Given the description of an element on the screen output the (x, y) to click on. 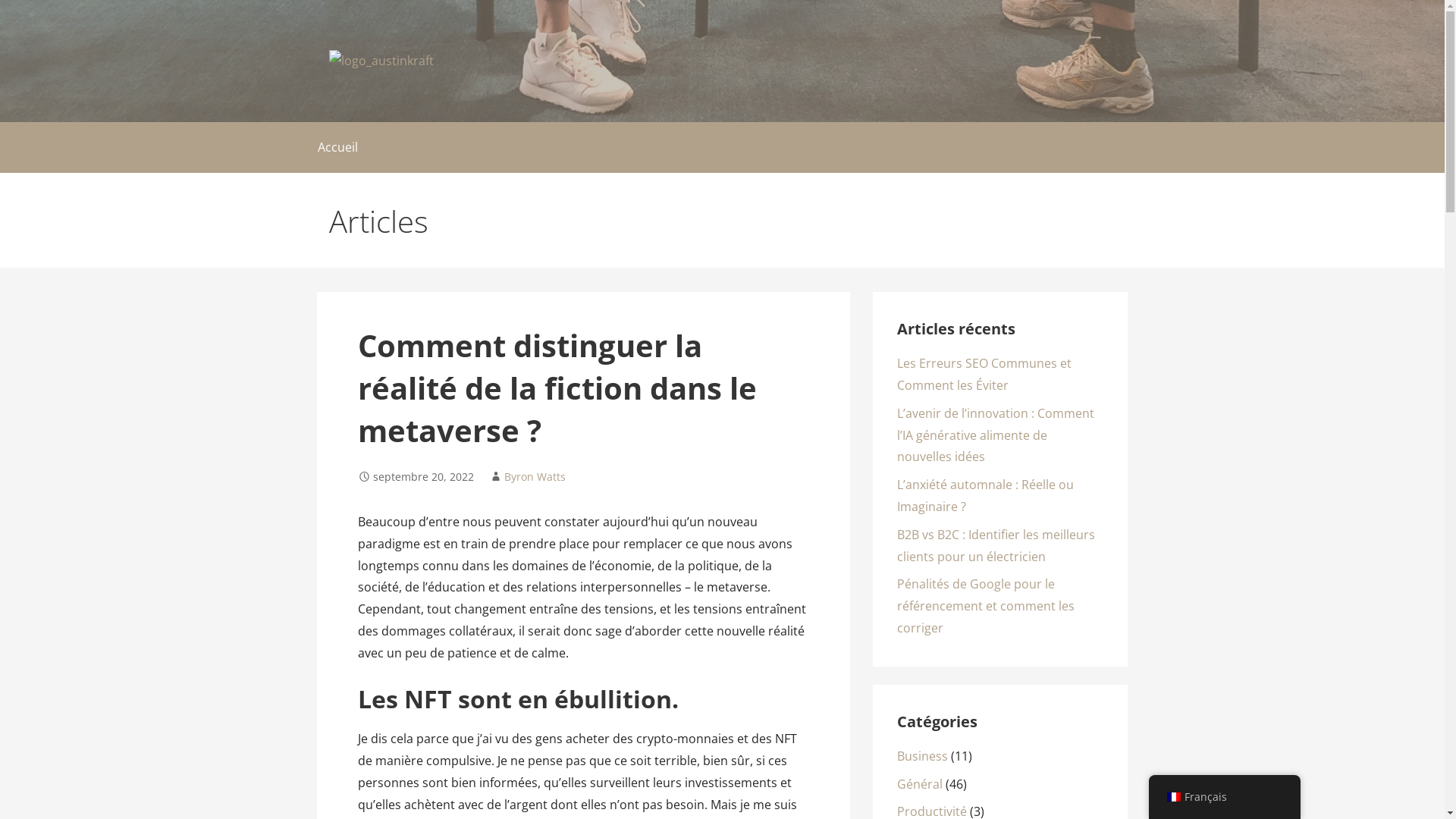
Accueil Element type: text (336, 147)
Business Element type: text (922, 755)
austinkraft.ch Element type: text (410, 90)
Byron Watts Element type: text (534, 476)
